Given the description of an element on the screen output the (x, y) to click on. 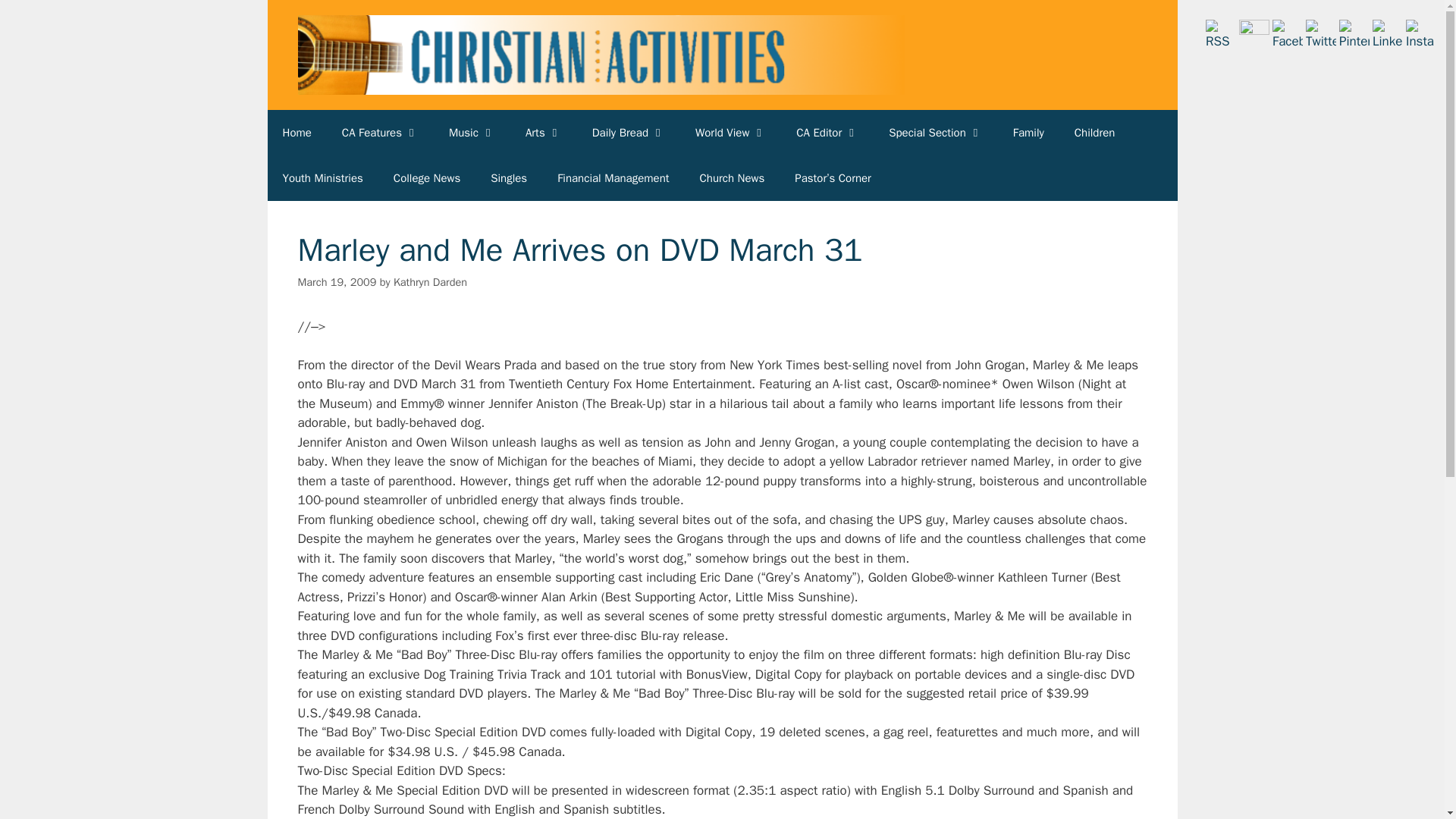
Singles (508, 177)
Music (472, 132)
Daily Bread (627, 132)
CA Editor (826, 132)
Special Section (935, 132)
View all posts by Kathryn Darden (430, 282)
Children (1095, 132)
Family (1028, 132)
College News (427, 177)
RSS (1220, 35)
